Given the description of an element on the screen output the (x, y) to click on. 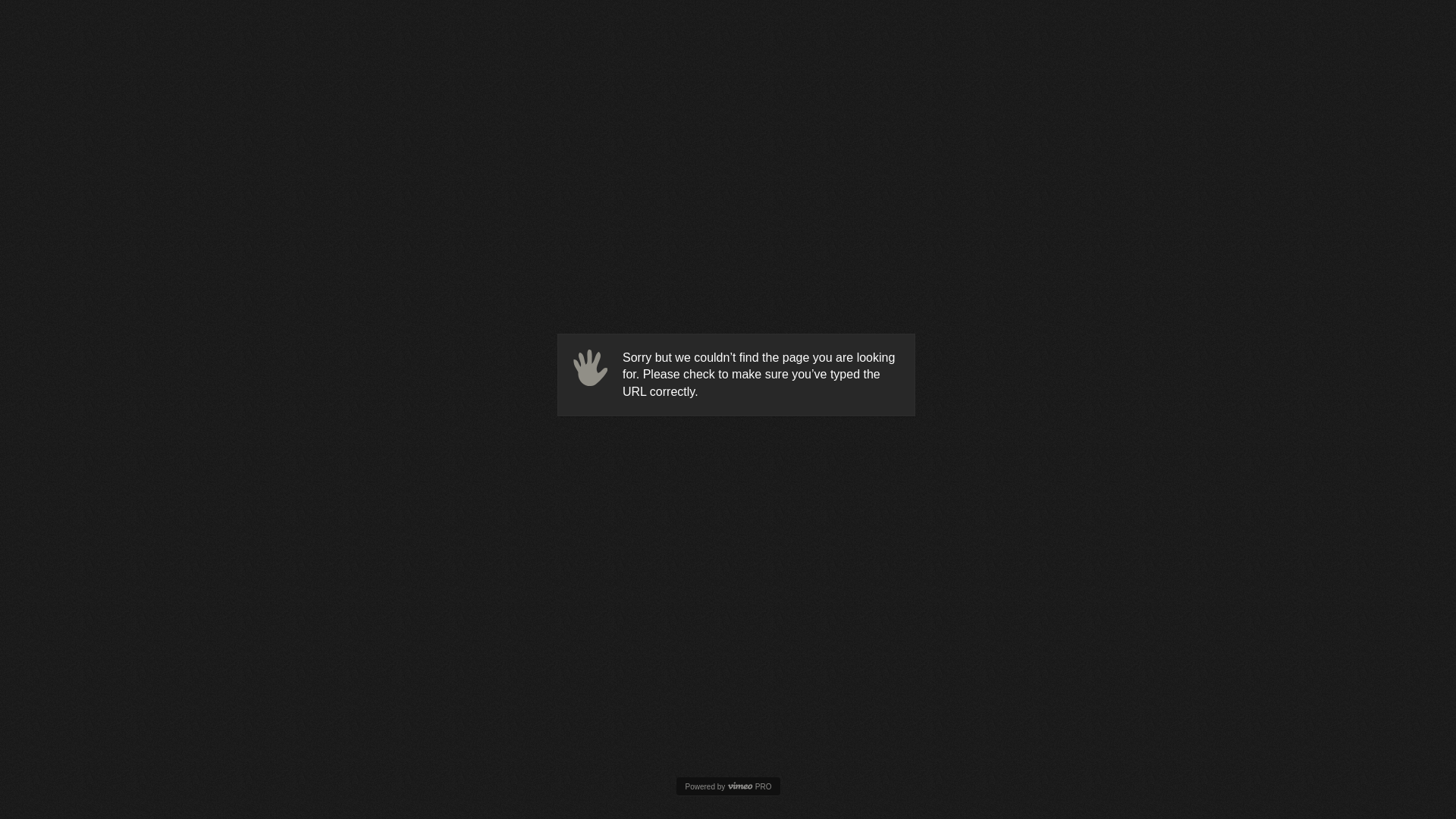
Powered by PRO Element type: text (728, 786)
